Given the description of an element on the screen output the (x, y) to click on. 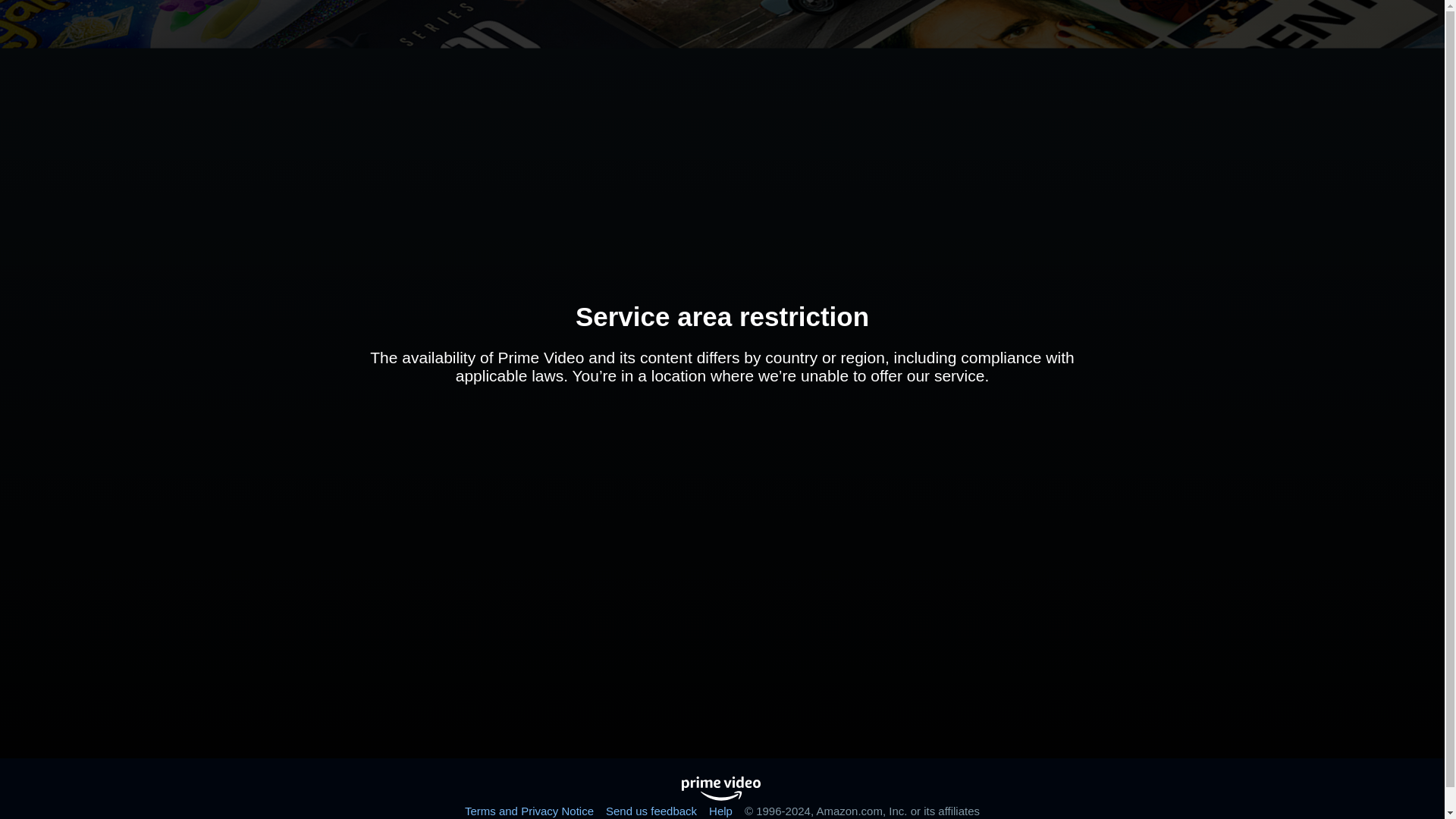
Help (720, 810)
Send us feedback (651, 810)
Terms and Privacy Notice (529, 810)
